Given the description of an element on the screen output the (x, y) to click on. 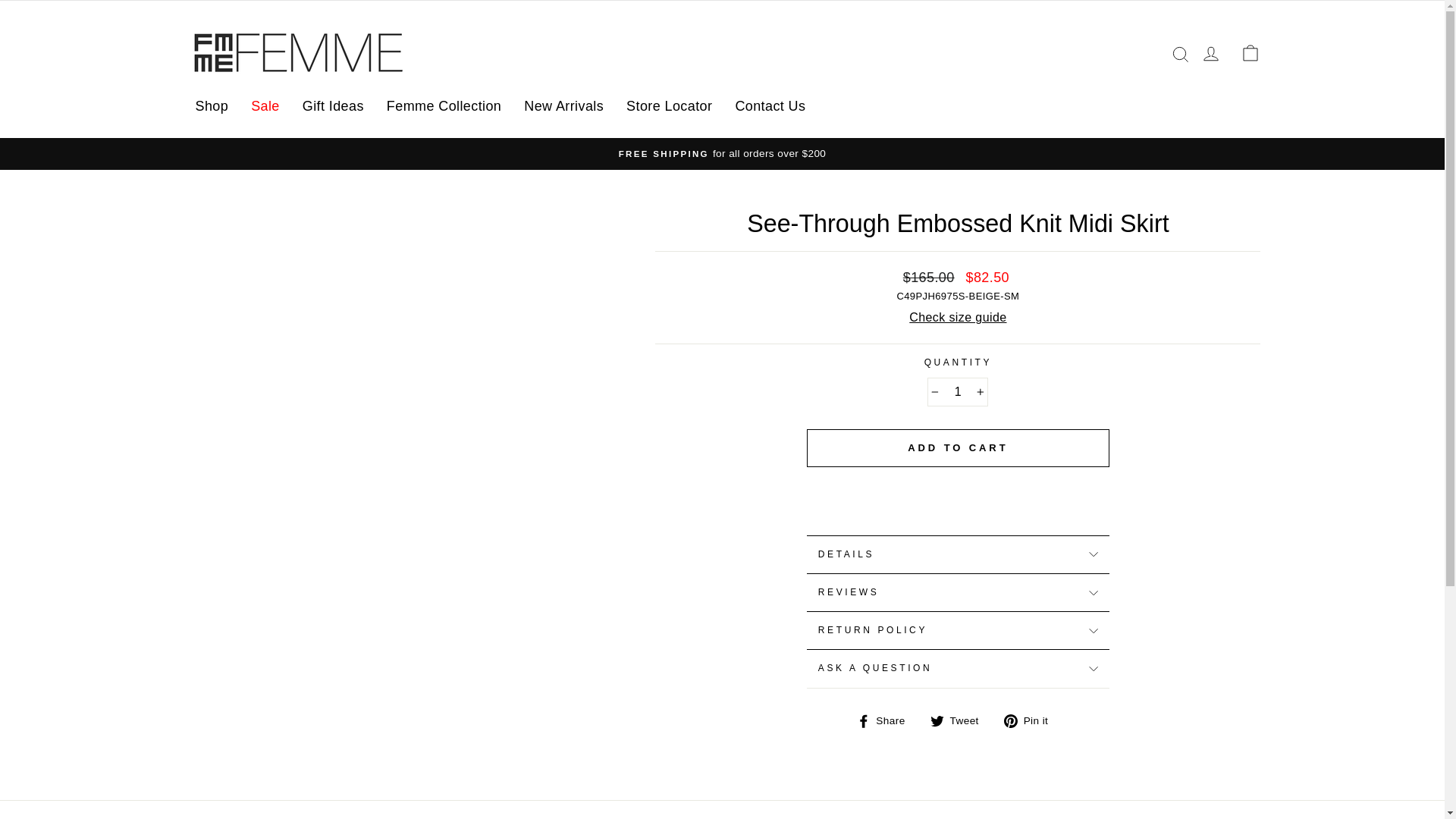
Tweet on Twitter (960, 721)
Pin on Pinterest (1031, 721)
1 (957, 391)
Share on Facebook (887, 721)
